Given the description of an element on the screen output the (x, y) to click on. 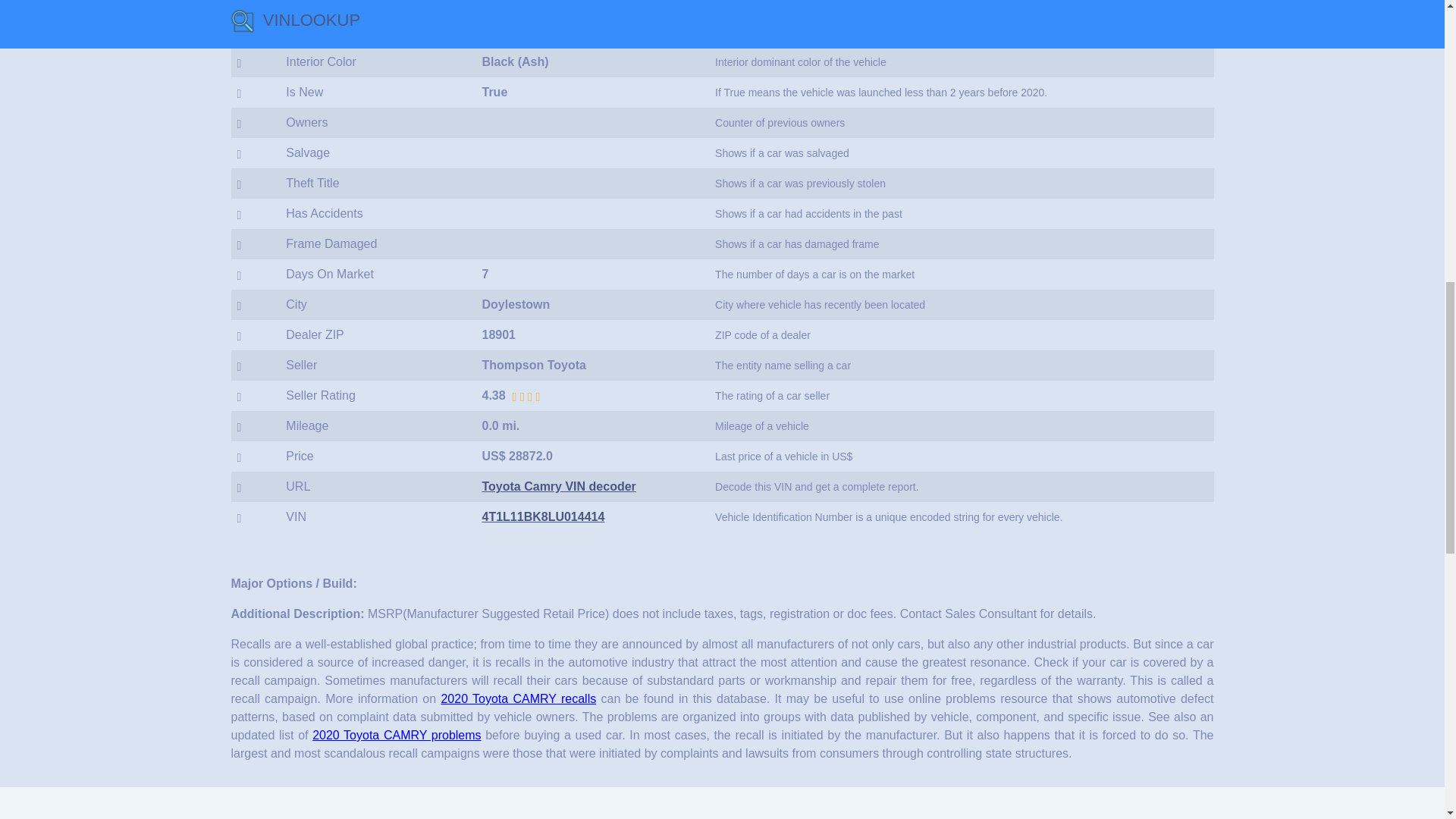
2020 Toyota CAMRY recalls (518, 698)
2020 Toyota CAMRY problems (396, 735)
Toyota Camry VIN decoder (557, 486)
2020 Toyota CAMRY recalls (518, 698)
4T1L11BK8LU014414 (542, 516)
Get Report for 4T1L11BK8LU014414 (542, 516)
2020 Toyota CAMRY problems (396, 735)
Toyota Camry VIN decoder (557, 486)
